Given the description of an element on the screen output the (x, y) to click on. 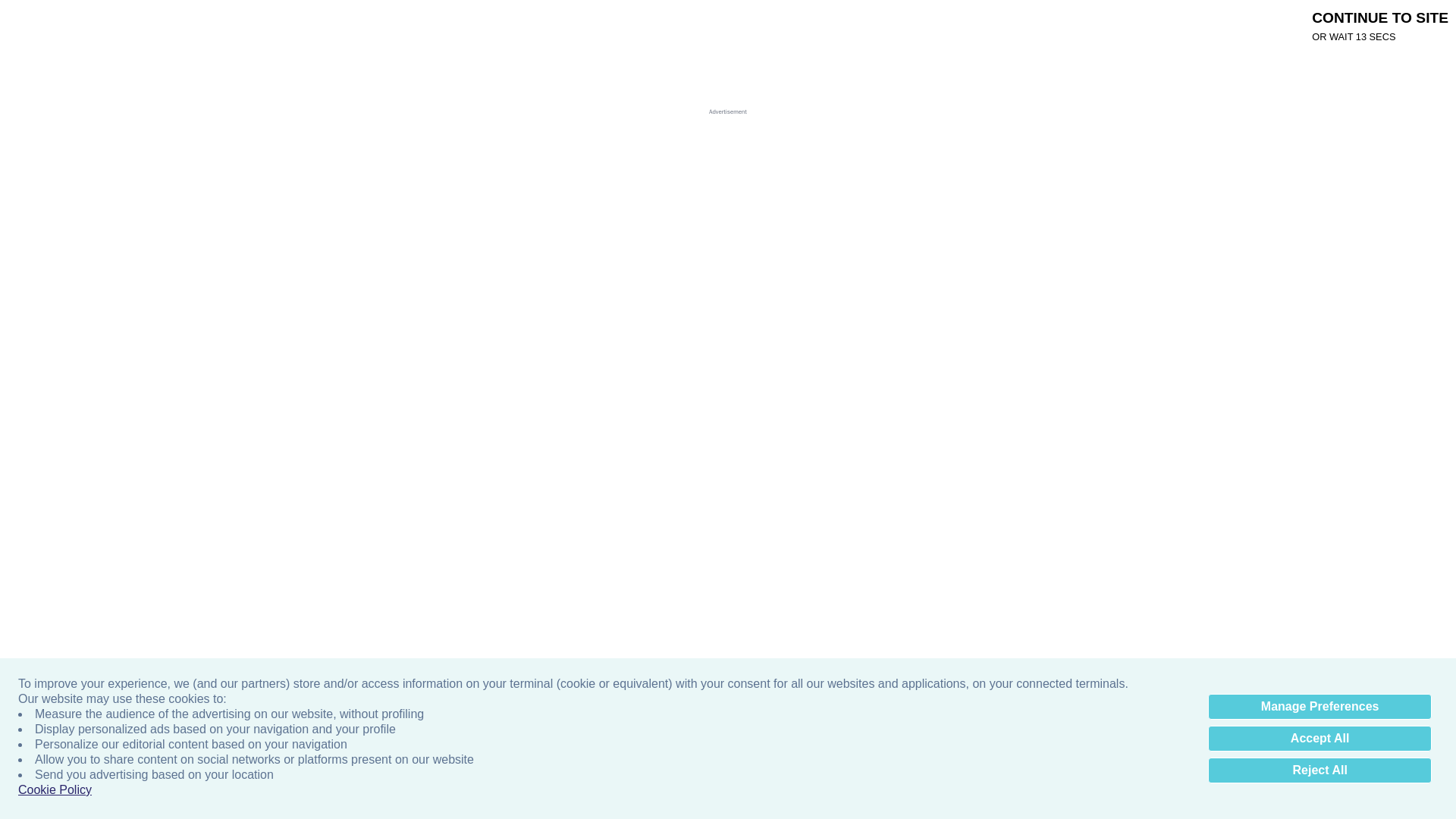
Broader Implications for the Drug Discovery Field (513, 23)
